Given the description of an element on the screen output the (x, y) to click on. 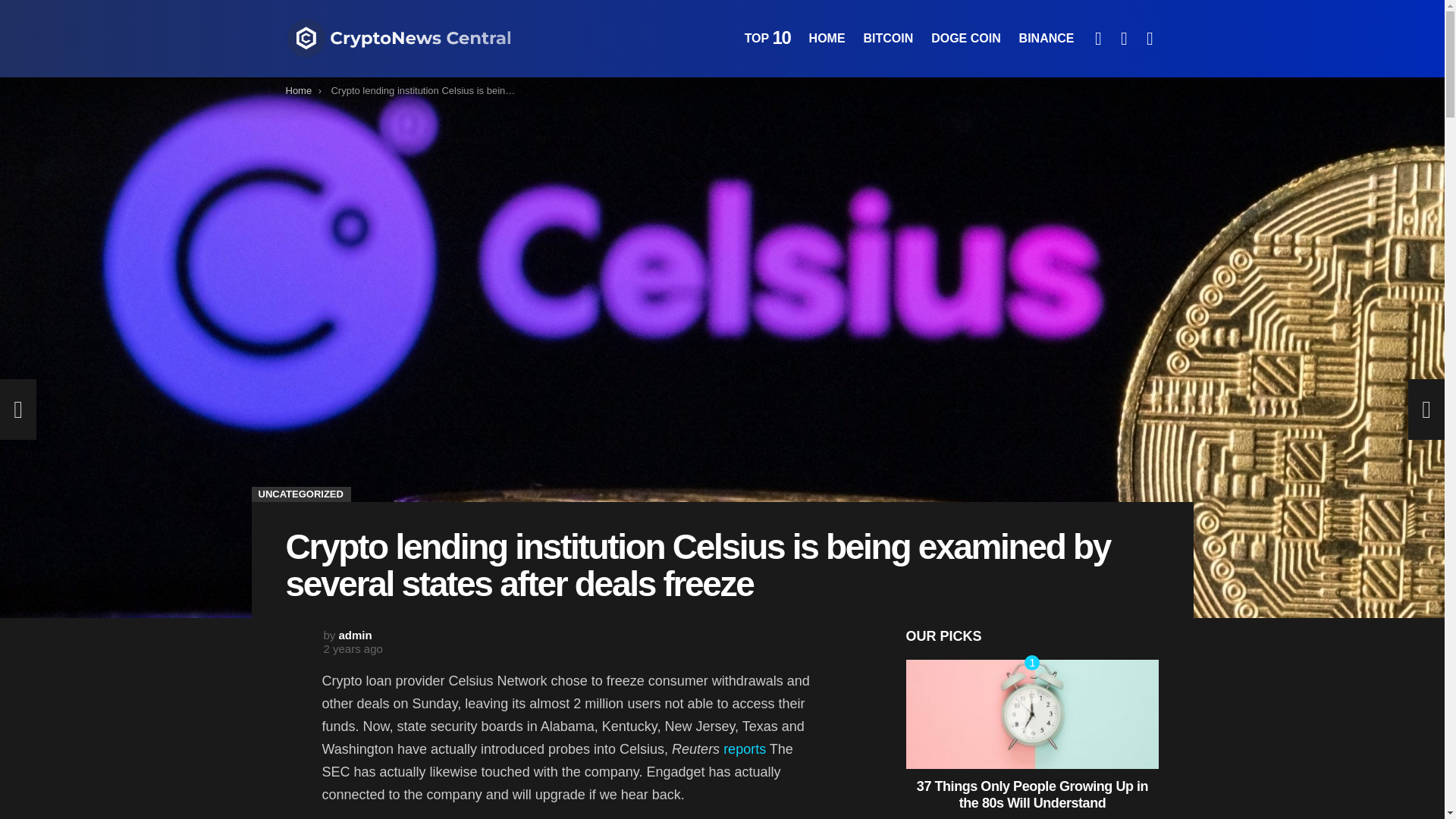
Home (298, 90)
DOGE COIN (966, 38)
admin (355, 634)
HOME (827, 38)
reports (742, 749)
TOP 10 (766, 38)
BITCOIN (888, 38)
Posts by admin (355, 634)
BINANCE (1046, 38)
UNCATEGORIZED (300, 494)
